Given the description of an element on the screen output the (x, y) to click on. 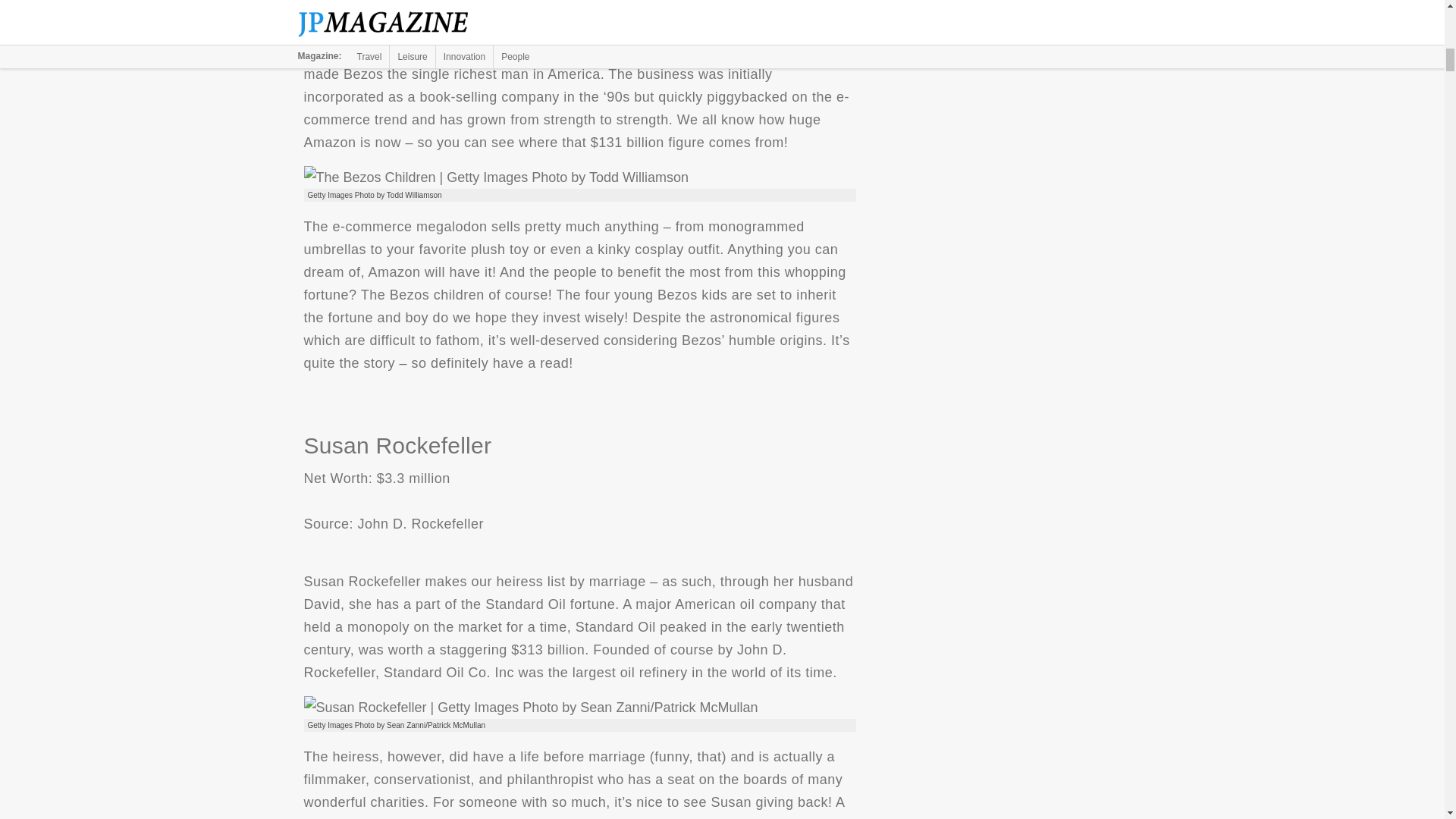
The Bezos Children (495, 177)
Susan Rockefeller (529, 707)
